Given the description of an element on the screen output the (x, y) to click on. 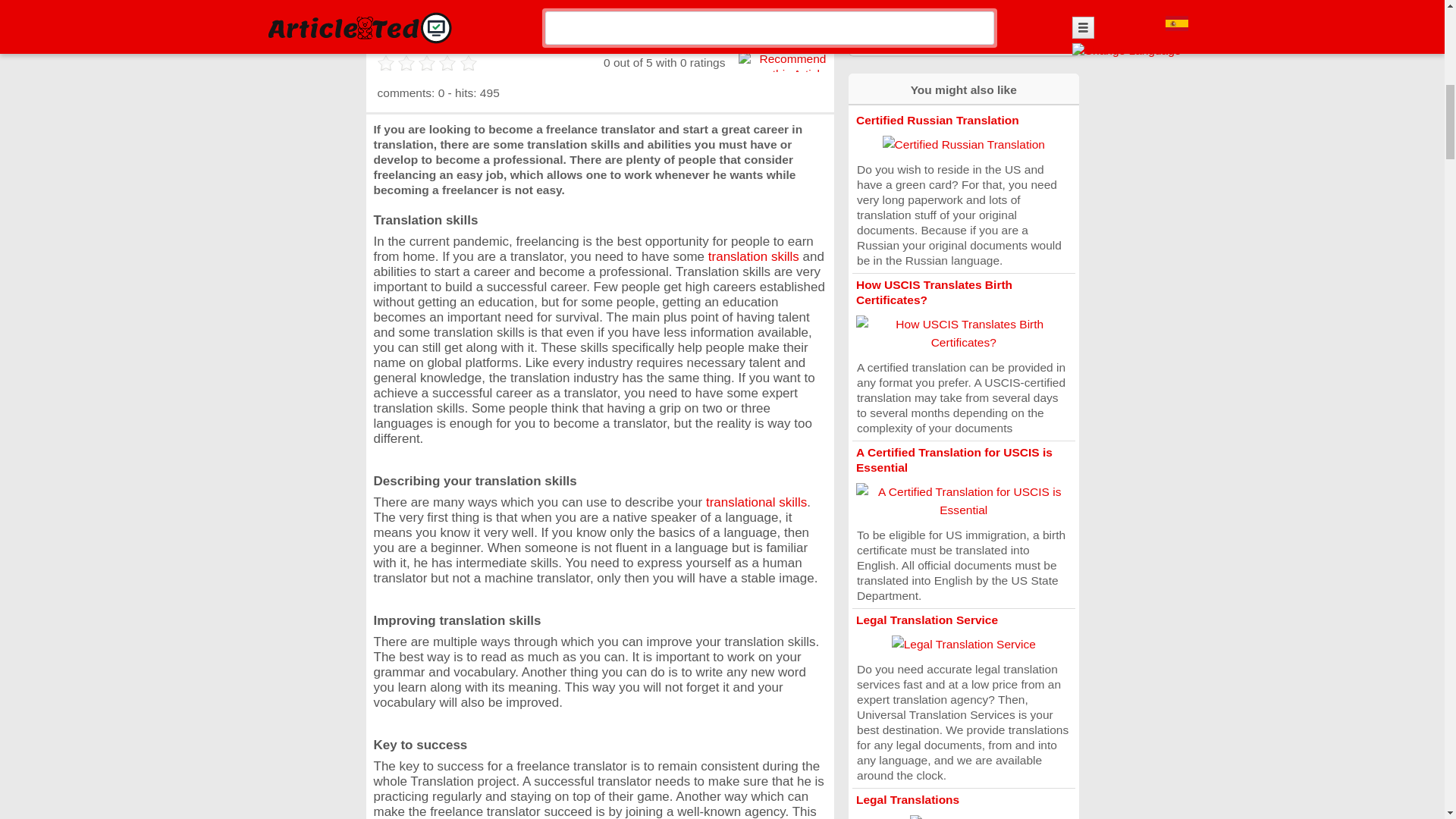
Certified Russian Translation (937, 119)
translational skills (756, 502)
Legal Translation Service (926, 619)
Legal Translations (907, 799)
translation skills (753, 256)
How USCIS Translates Birth Certificates? (933, 292)
A Certified Translation for USCIS is Essential (954, 459)
